Given the description of an element on the screen output the (x, y) to click on. 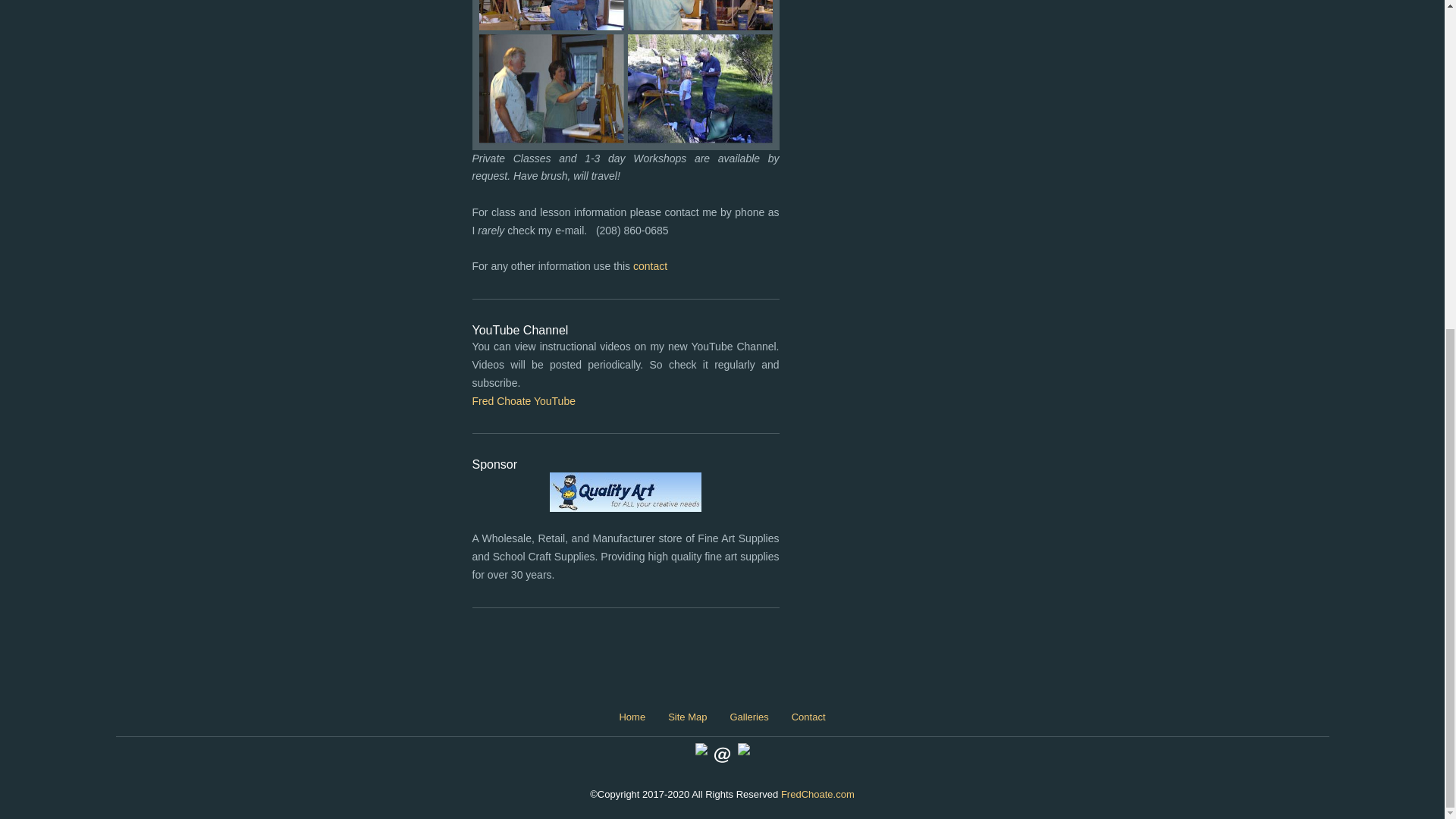
Fred Choate YouTube (523, 400)
Fred Choate YouTube Channel (523, 400)
Galleries (747, 716)
Site Map (686, 716)
Home (631, 716)
Contact (808, 716)
contact (649, 265)
